Given the description of an element on the screen output the (x, y) to click on. 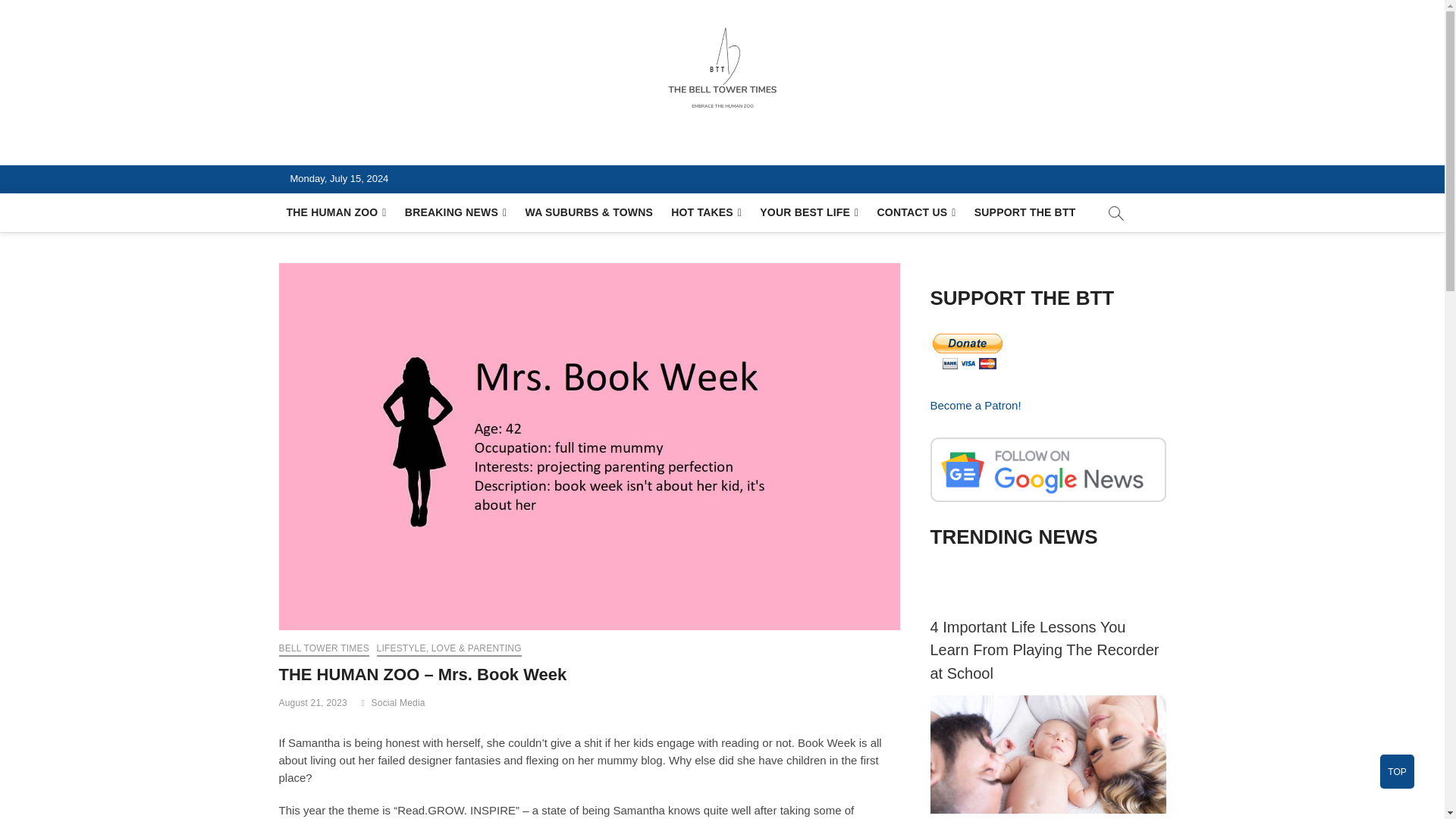
HOT TAKES (706, 212)
The Bell Tower Times (416, 146)
YOUR BEST LIFE (809, 212)
August 21, 2023 (313, 702)
BREAKING NEWS (456, 212)
THE HUMAN ZOO (336, 212)
The Bell Tower Times (416, 146)
